Given the description of an element on the screen output the (x, y) to click on. 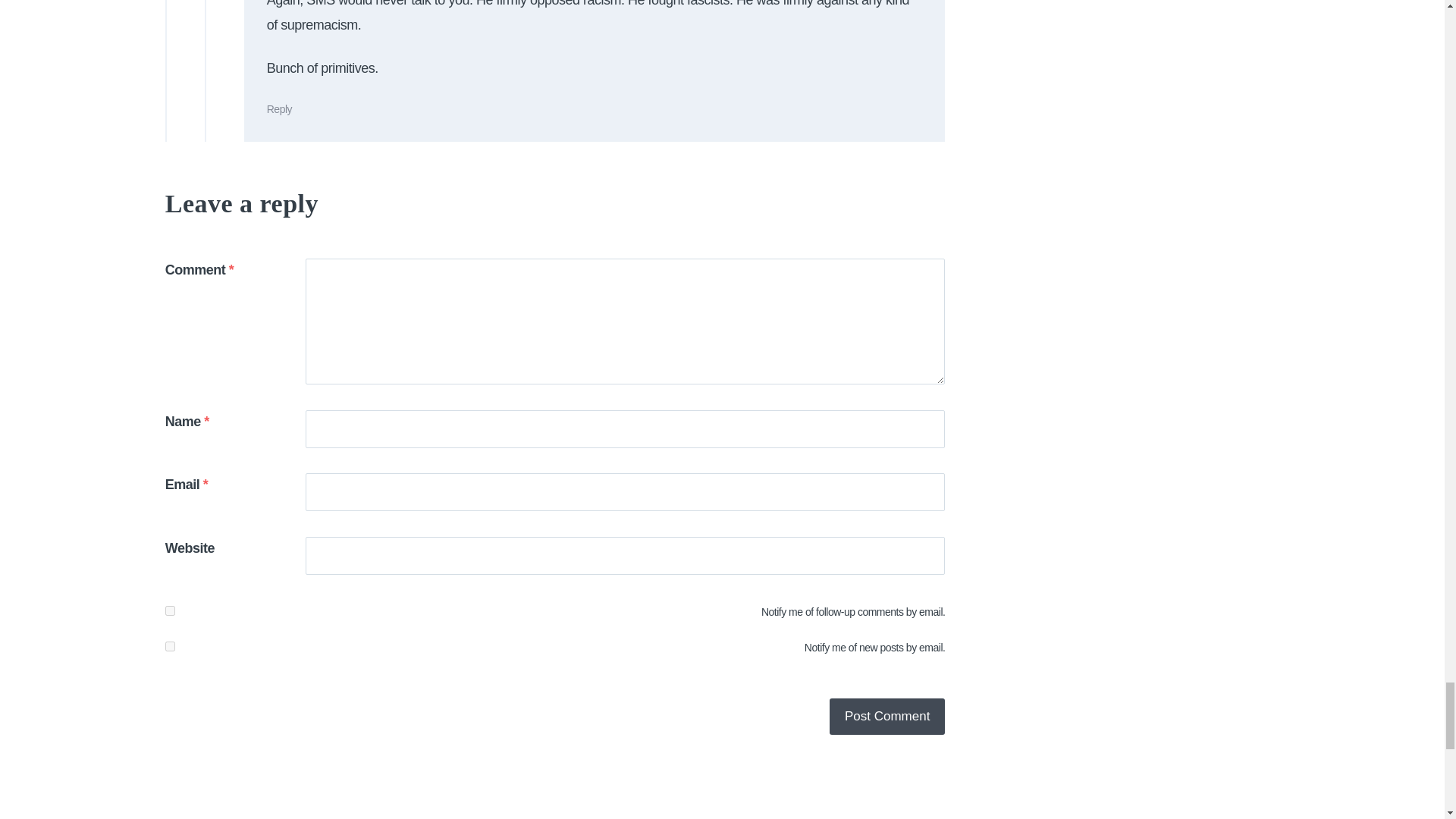
subscribe (169, 646)
Post Comment (886, 716)
subscribe (169, 610)
